Given the description of an element on the screen output the (x, y) to click on. 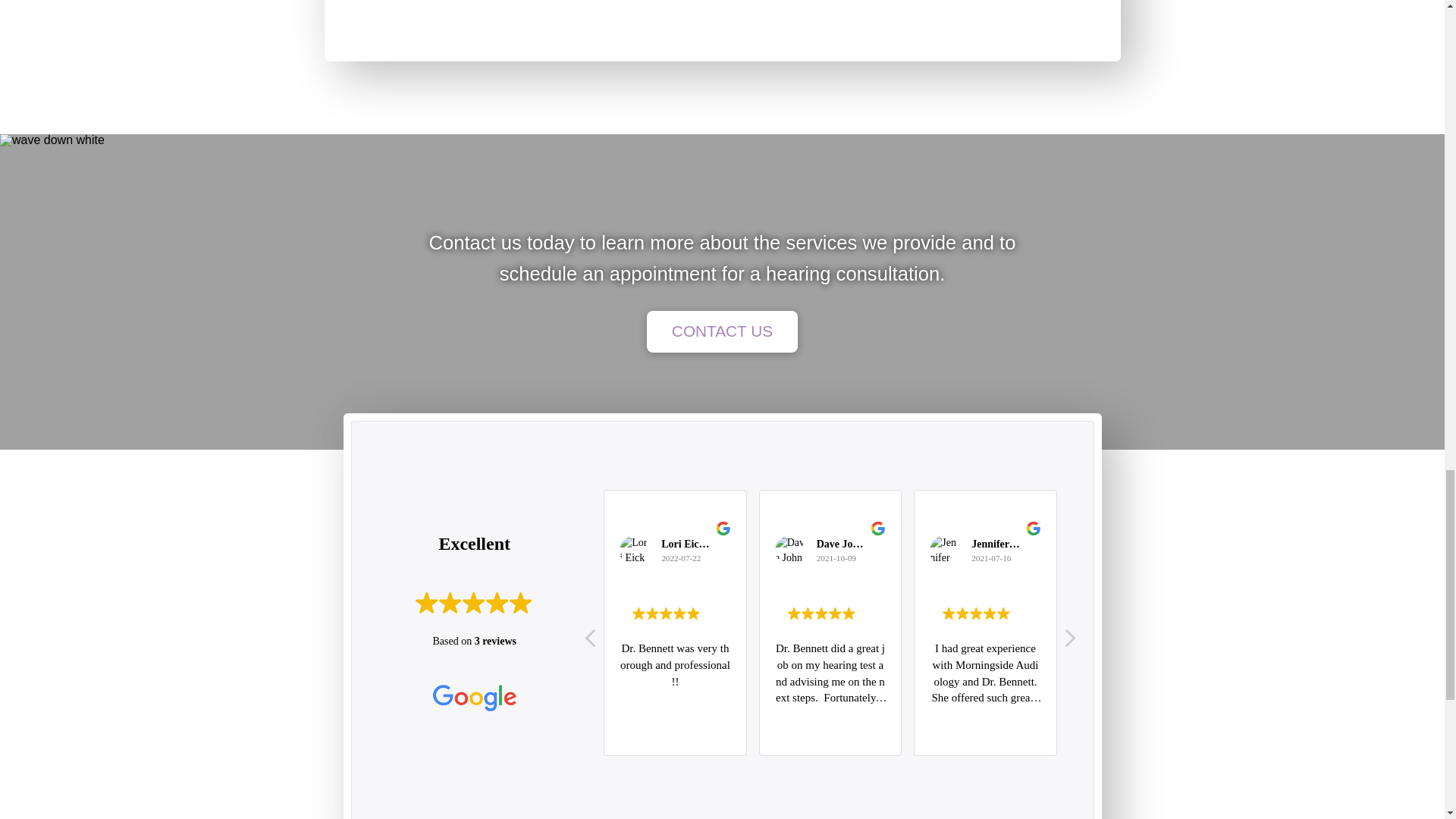
CONTACT US (721, 331)
